Given the description of an element on the screen output the (x, y) to click on. 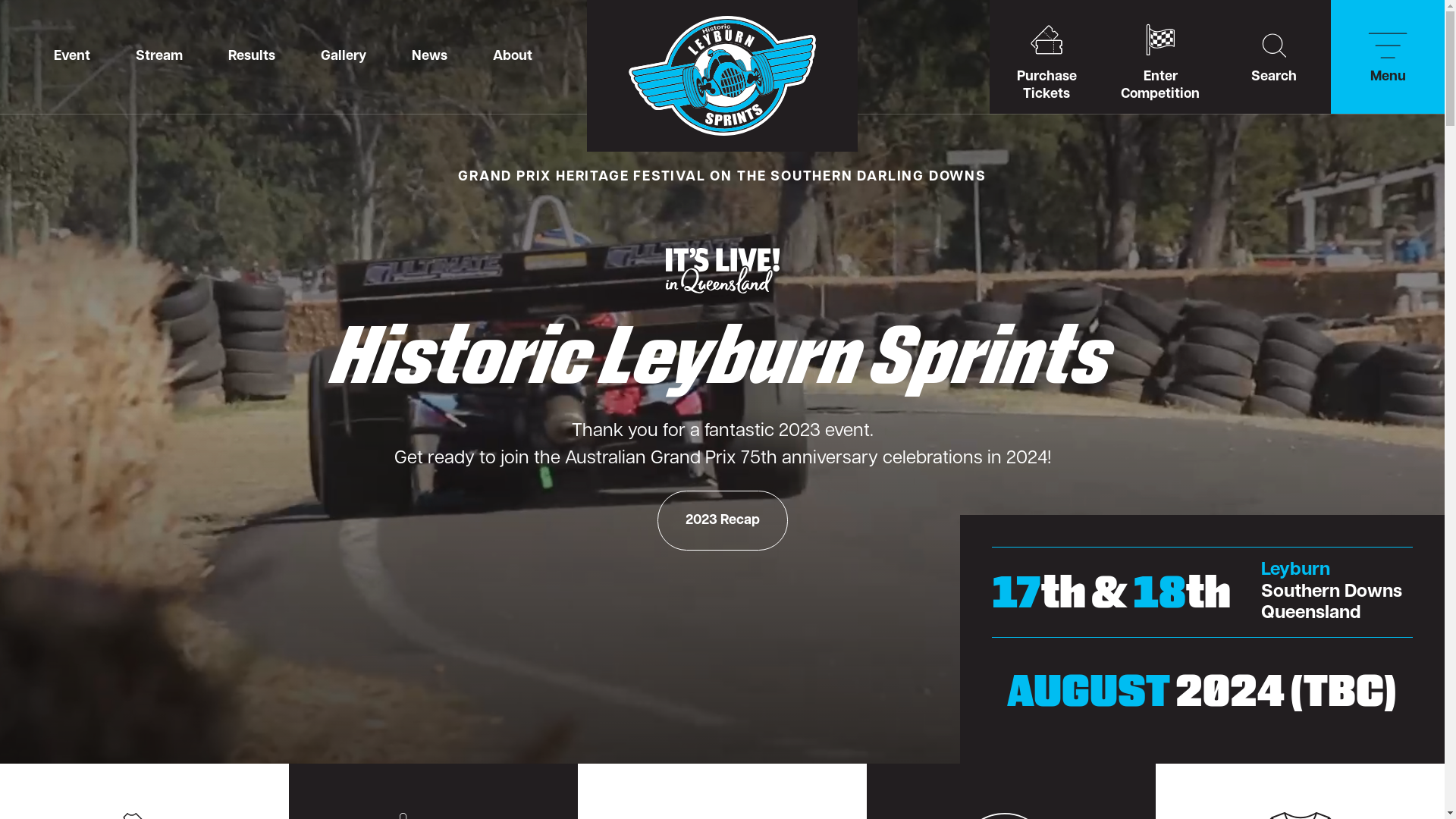
Search Element type: text (1273, 56)
Results Element type: text (251, 56)
Purchase Tickets Element type: text (1046, 56)
Leyburn Sprints Element type: hover (721, 75)
Enter Competition Element type: text (1160, 56)
Stream Element type: text (158, 56)
News Element type: text (429, 56)
About Element type: text (512, 56)
Gallery Element type: text (343, 56)
Menu Element type: text (1387, 56)
Event Element type: text (71, 56)
2023 Recap Element type: text (721, 520)
